Given the description of an element on the screen output the (x, y) to click on. 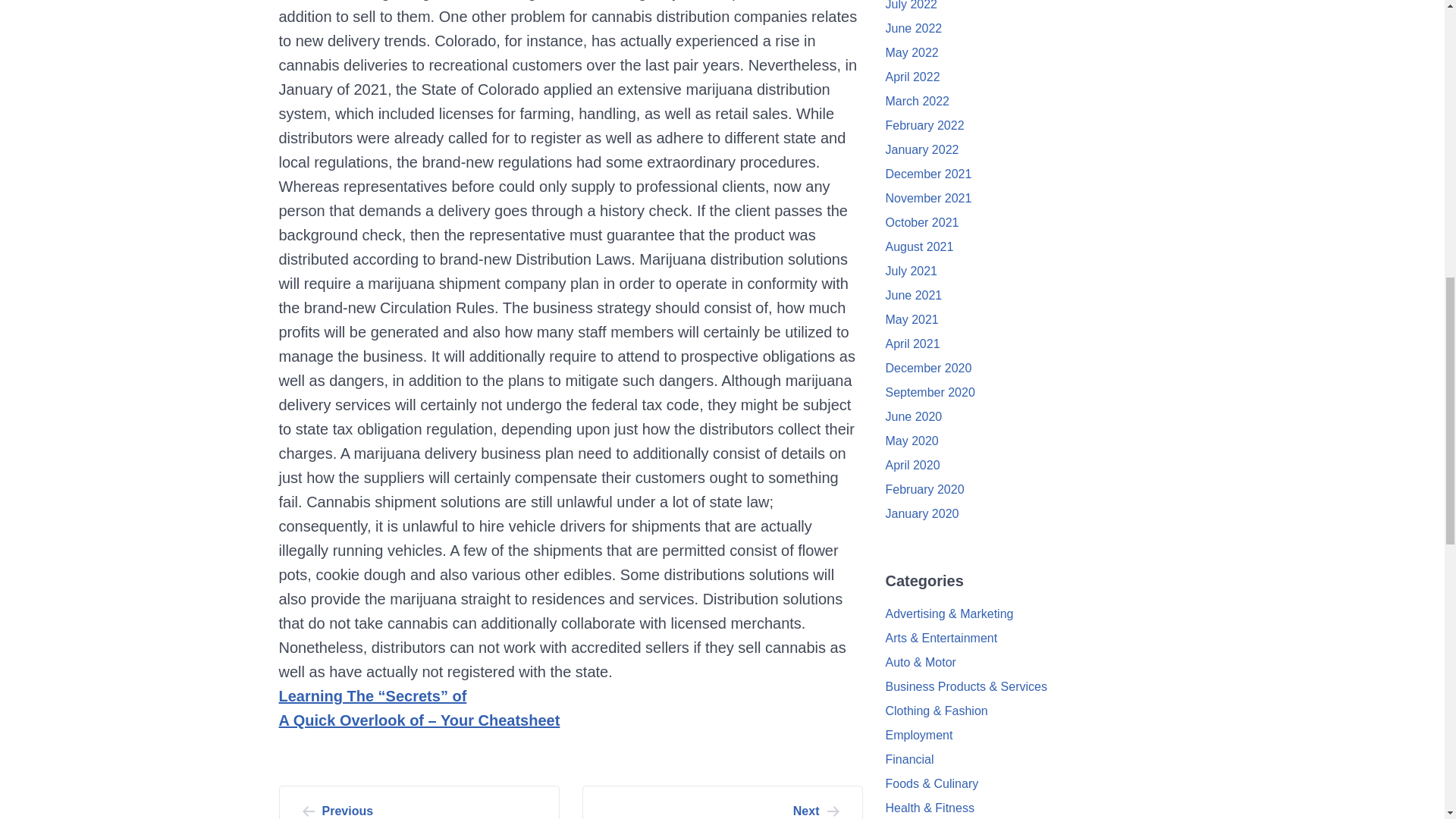
May 2022 (722, 802)
April 2022 (912, 51)
July 2022 (912, 76)
June 2022 (911, 5)
